Given the description of an element on the screen output the (x, y) to click on. 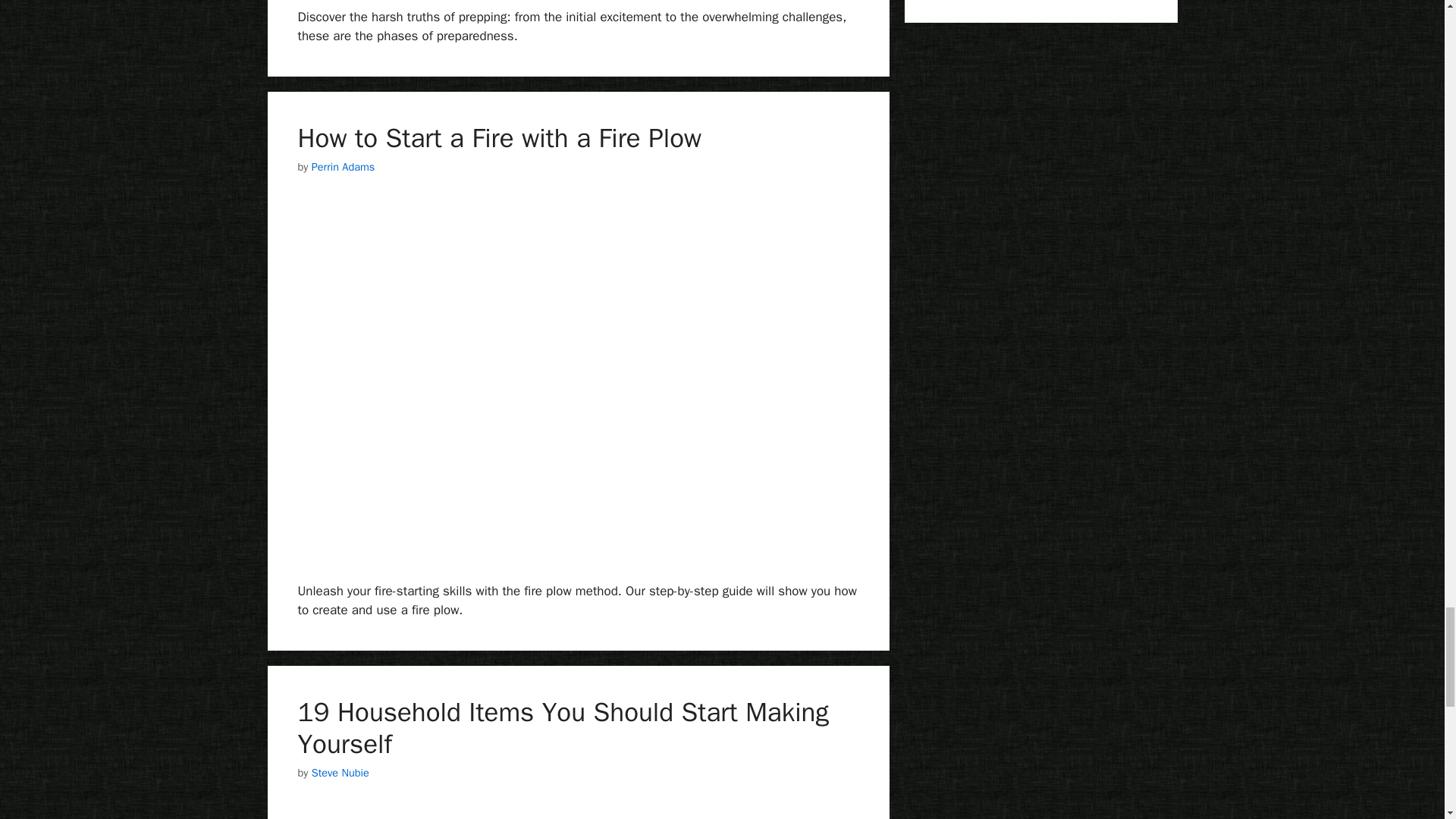
View all posts by Steve Nubie (340, 772)
View all posts by Perrin Adams (343, 166)
